Given the description of an element on the screen output the (x, y) to click on. 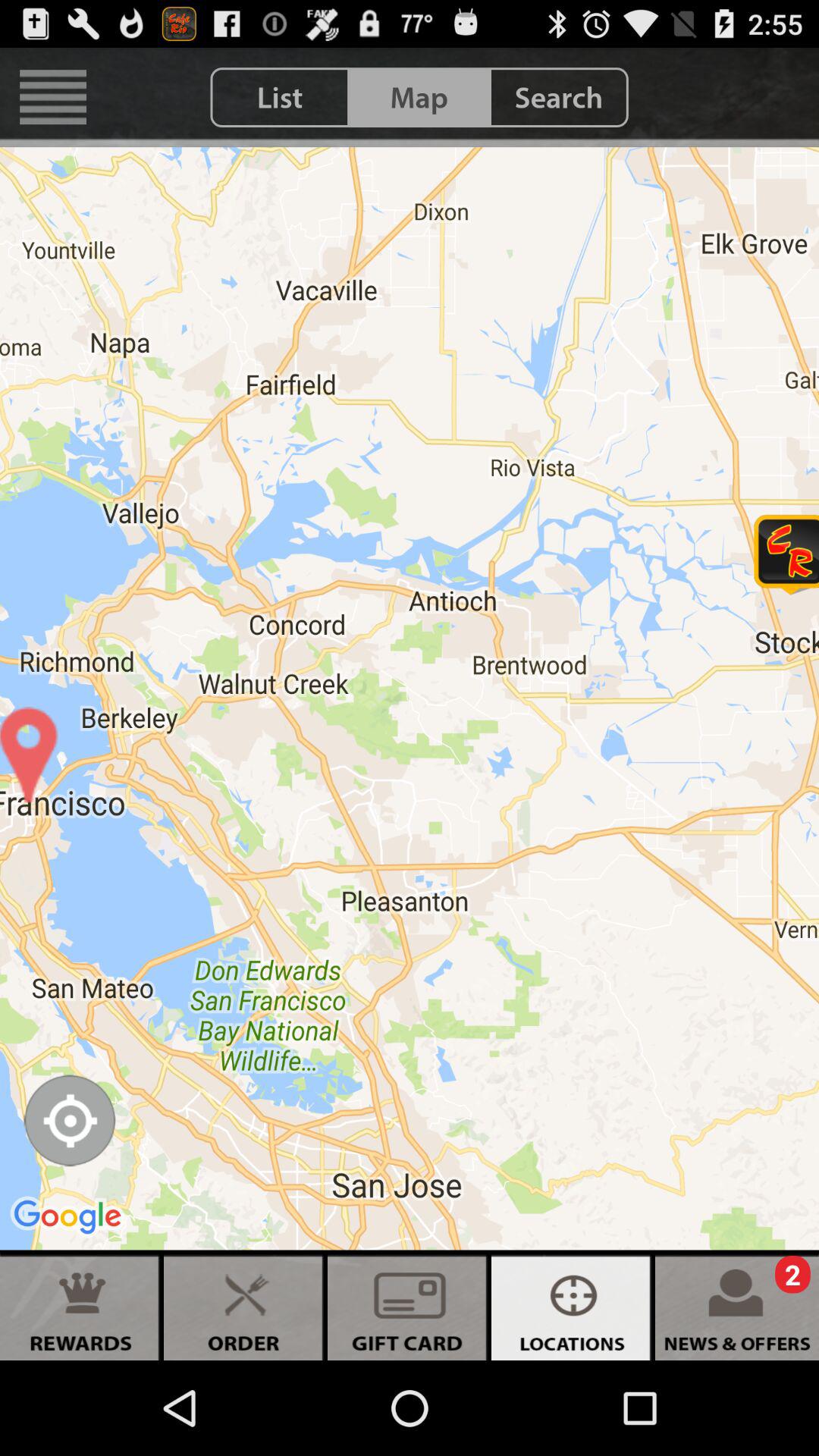
turn on item to the left of map (279, 97)
